Given the description of an element on the screen output the (x, y) to click on. 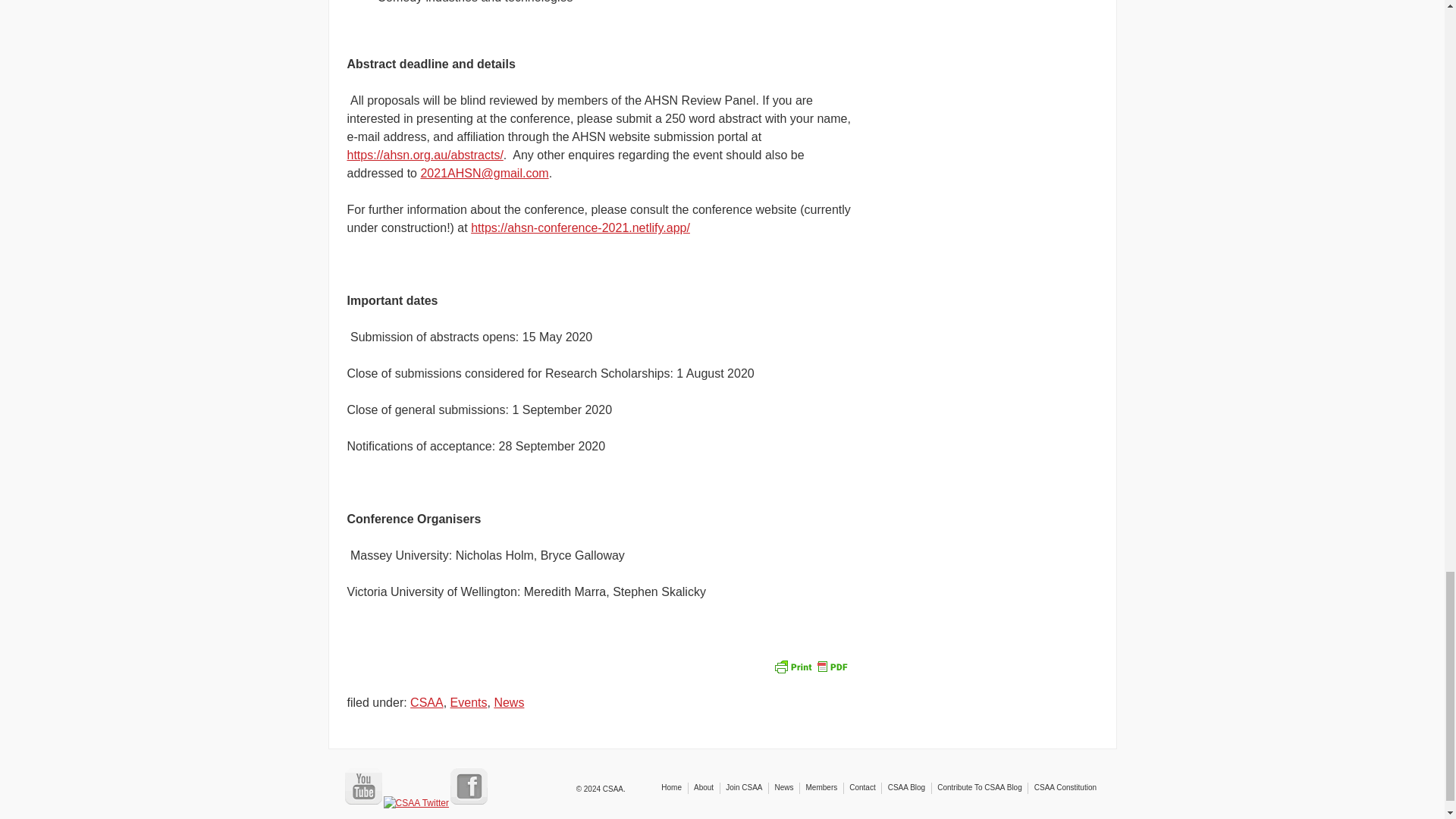
Events (468, 702)
CSAA (427, 702)
News (508, 702)
